Given the description of an element on the screen output the (x, y) to click on. 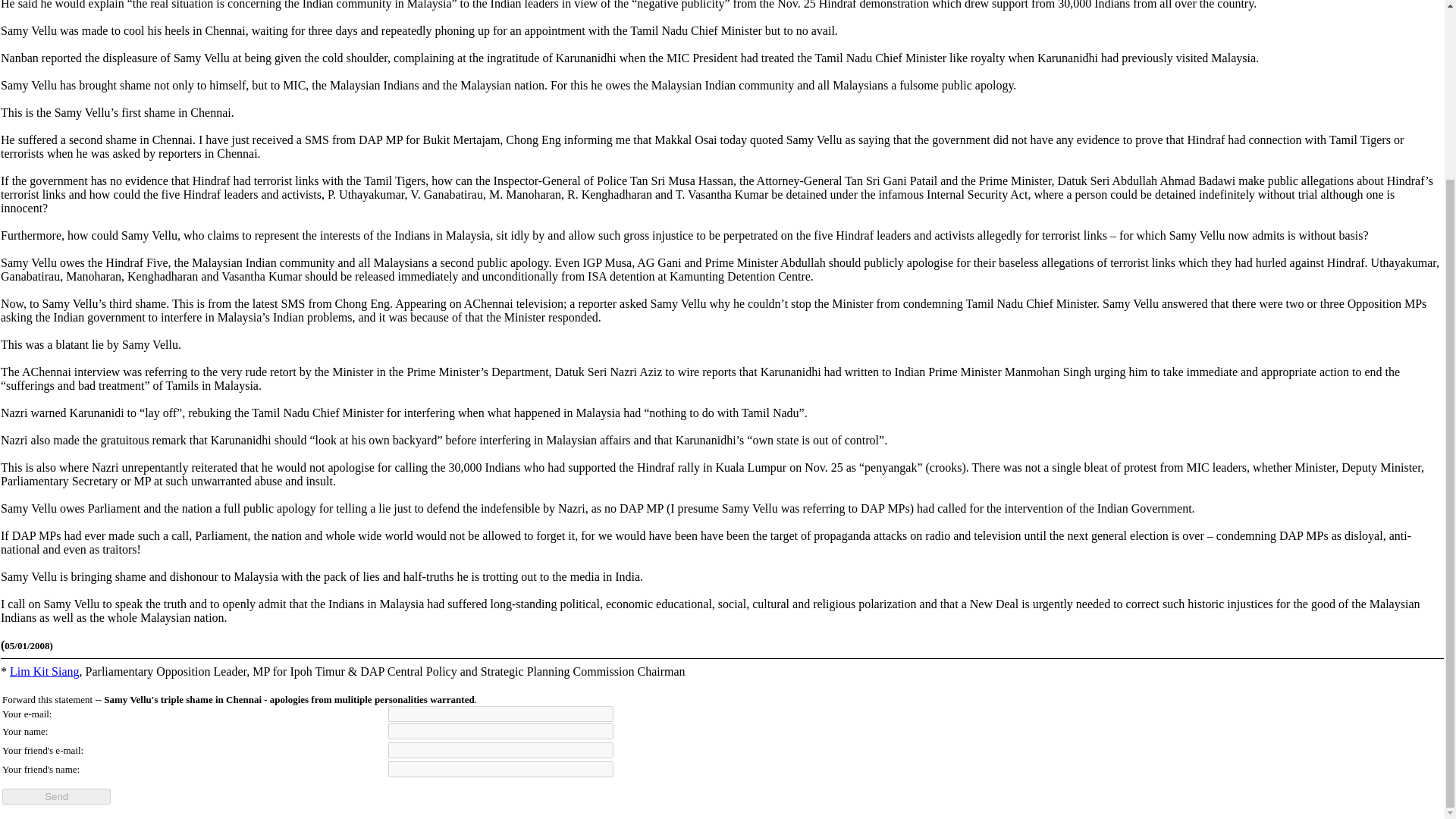
Lim Kit Siang (45, 671)
             Send              (56, 796)
             Send              (56, 796)
